Given the description of an element on the screen output the (x, y) to click on. 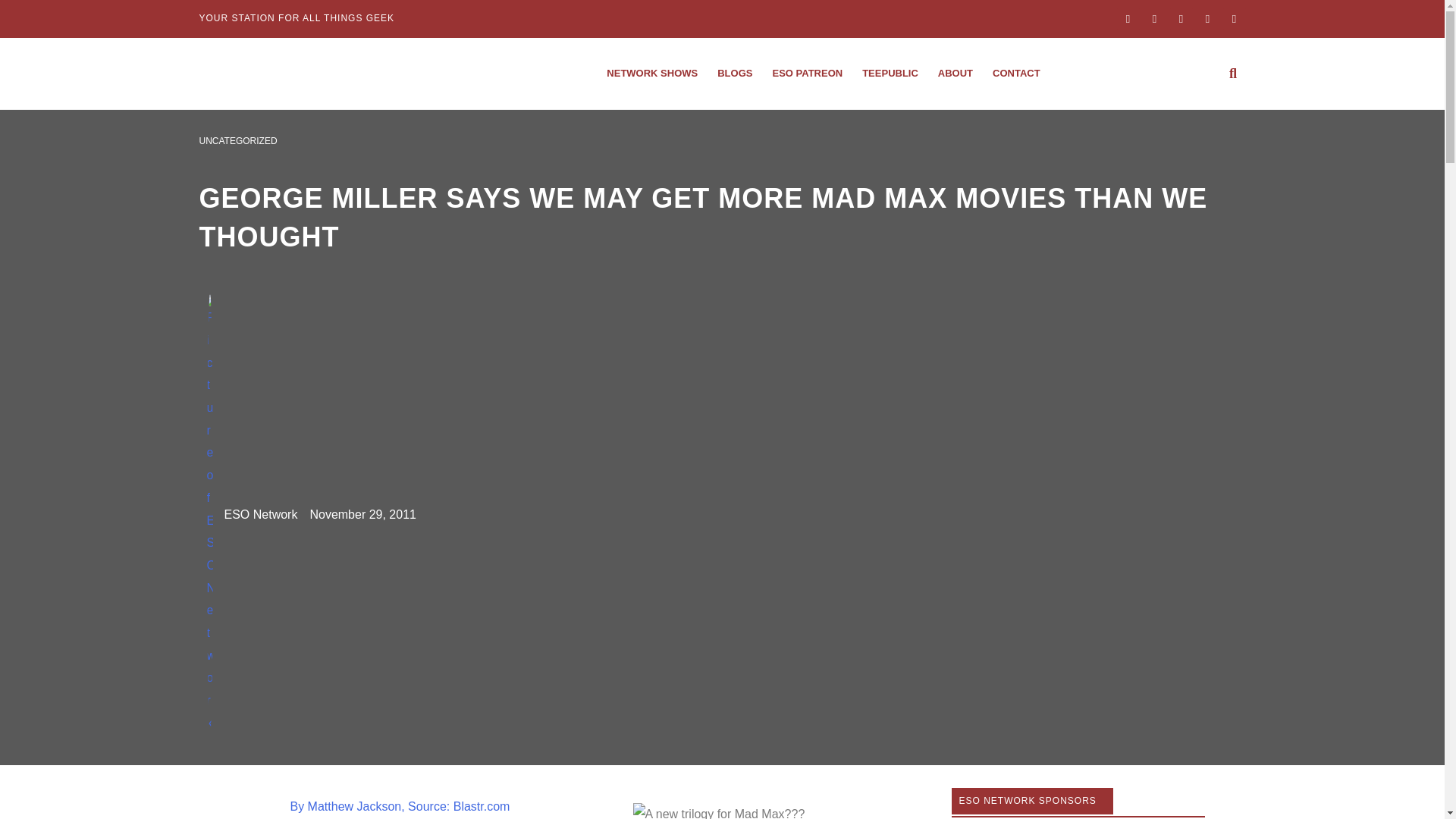
Pinterest-p (1233, 18)
NETWORK SHOWS (651, 73)
Youtube (1208, 18)
Twitter (1180, 18)
Instagram (1154, 18)
Patreon (806, 73)
ESO PATREON (806, 73)
madmax2list (739, 807)
UNCATEGORIZED (237, 140)
ABOUT (955, 73)
TEEPUBLIC (889, 73)
Facebook-f (1127, 18)
CONTACT (1015, 73)
BLOGS (734, 73)
